Given the description of an element on the screen output the (x, y) to click on. 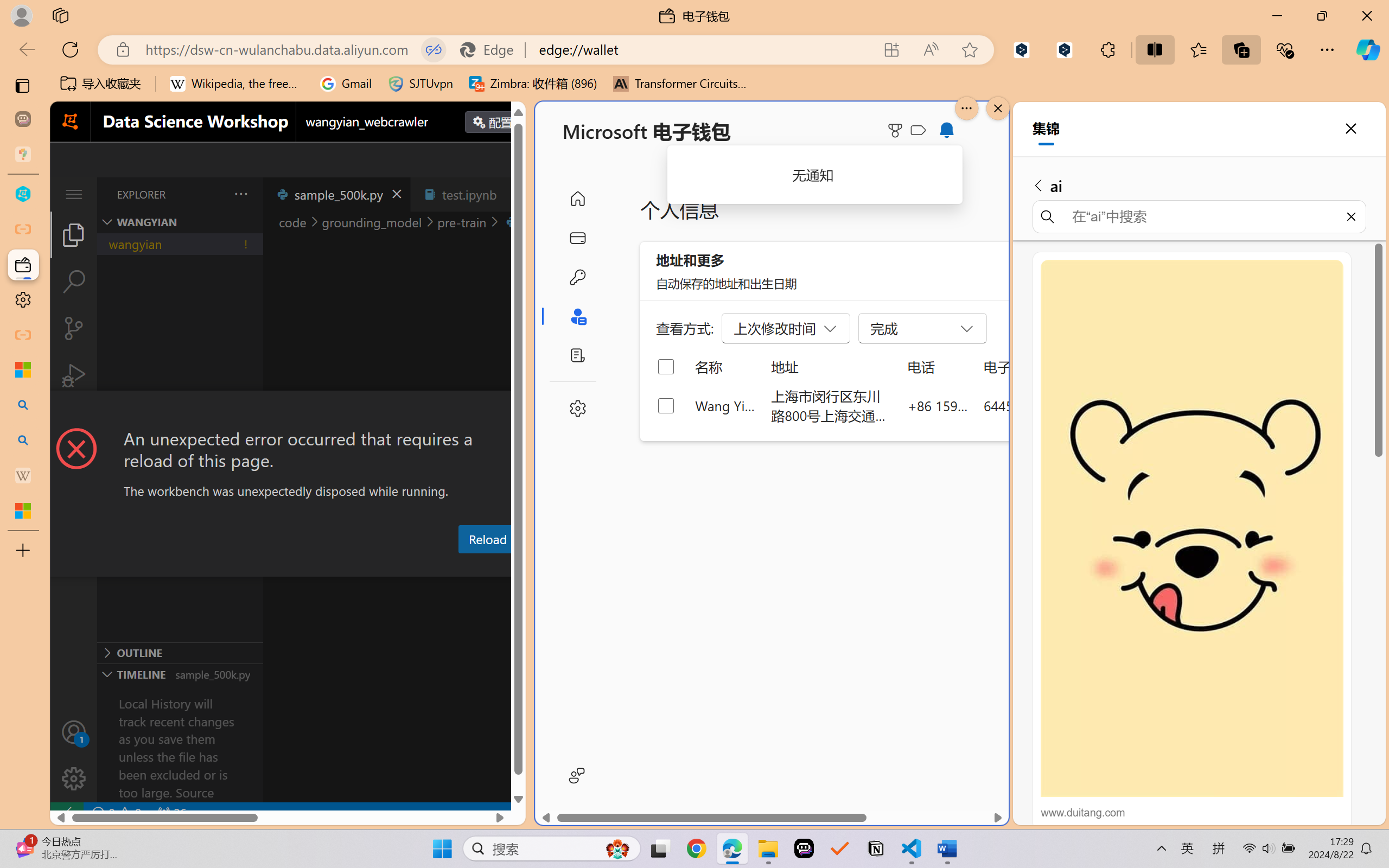
Tab actions (512, 194)
+86 159 0032 4640 (938, 405)
sample_500k.py (336, 194)
Close Dialog (520, 410)
Accounts - Sign in requested (73, 732)
Application Menu (73, 194)
